Given the description of an element on the screen output the (x, y) to click on. 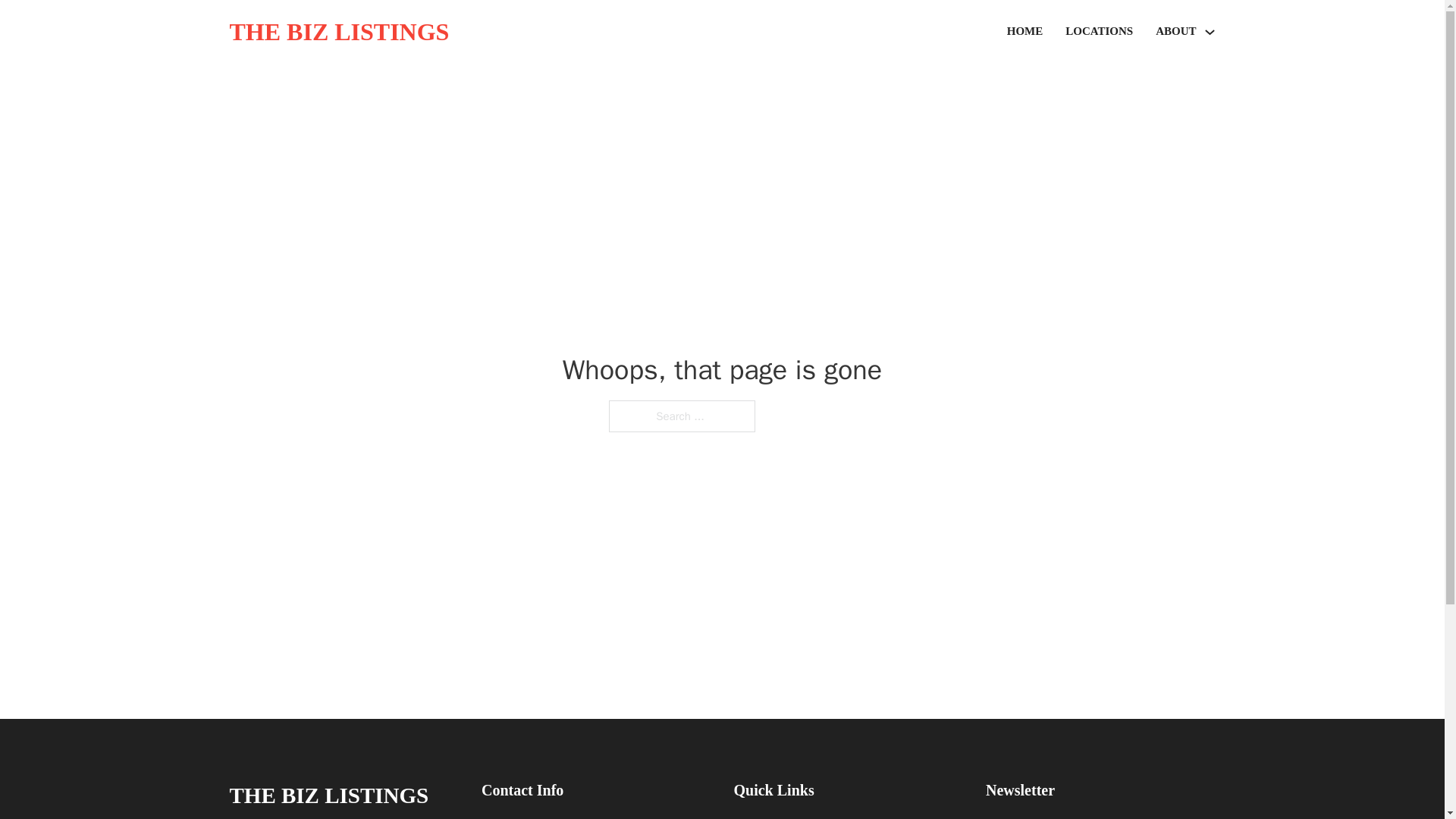
ABOUT (1175, 31)
THE BIZ LISTINGS (328, 795)
HOME (1025, 31)
THE BIZ LISTINGS (338, 31)
LOCATIONS (1098, 31)
